Given the description of an element on the screen output the (x, y) to click on. 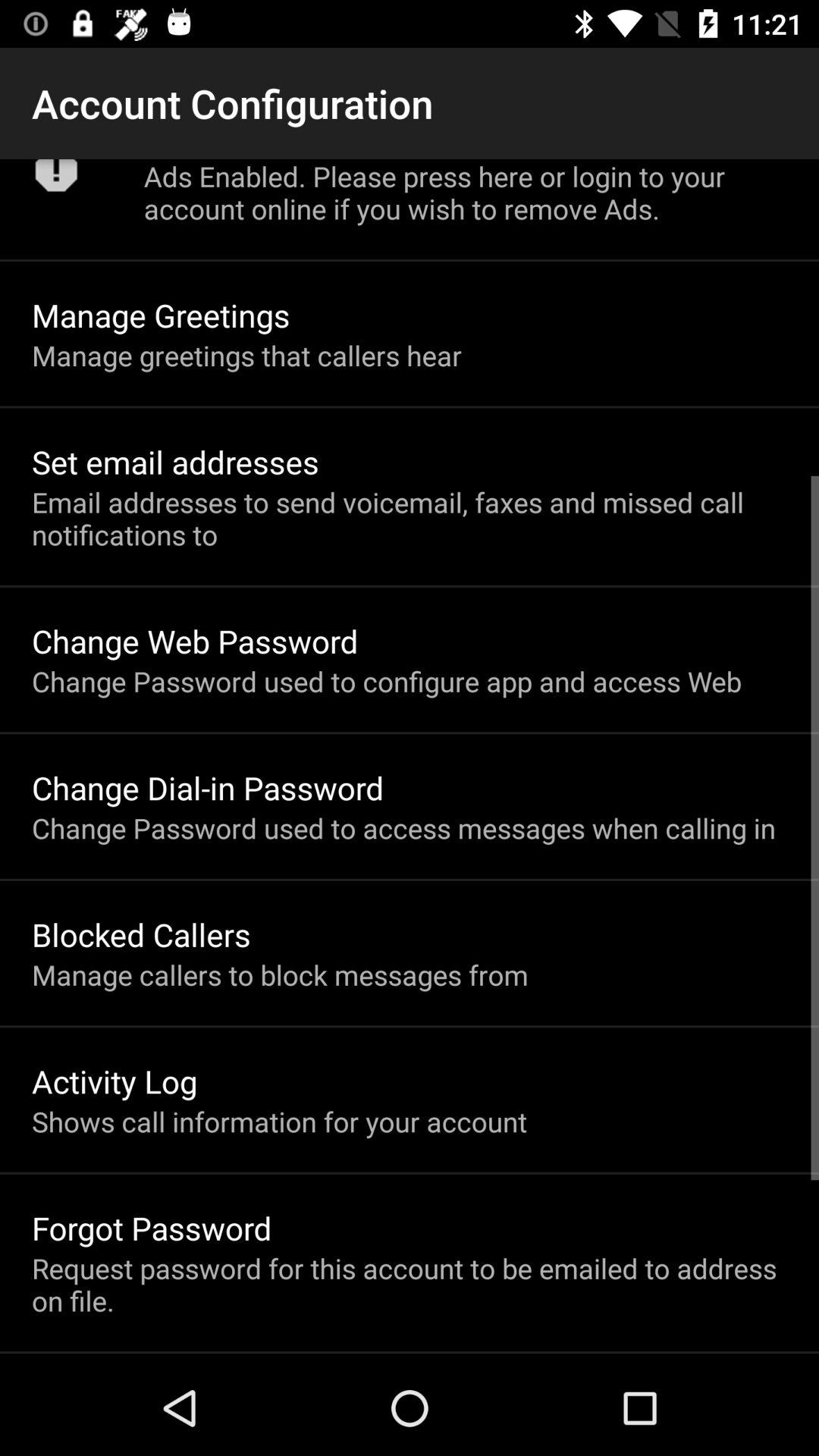
select the app next to ads enabled please item (56, 180)
